Given the description of an element on the screen output the (x, y) to click on. 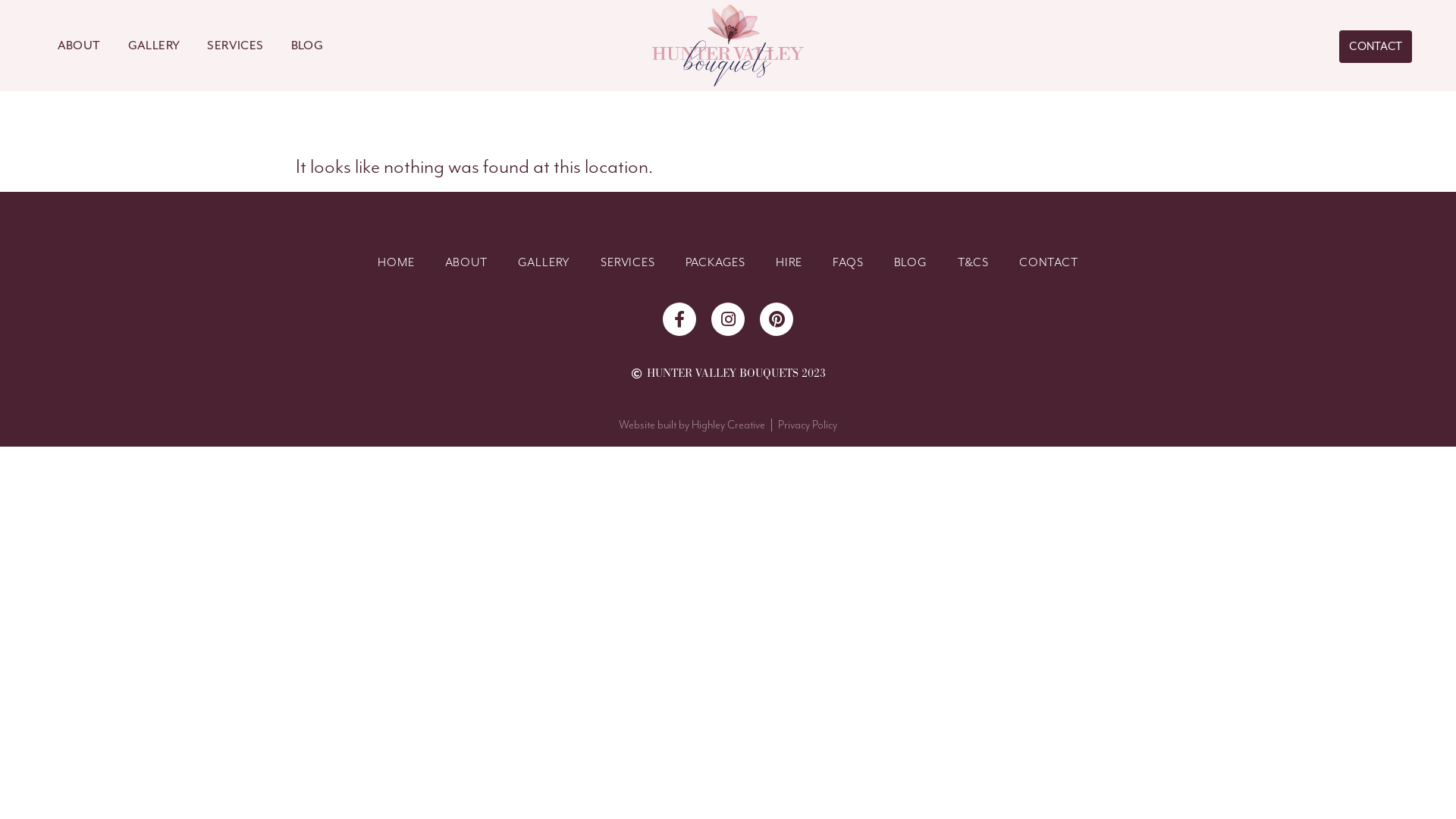
CONTACT Element type: text (1375, 46)
SERVICES Element type: text (627, 261)
GALLERY Element type: text (154, 45)
PACKAGES Element type: text (715, 261)
BLOG Element type: text (909, 261)
T&CS Element type: text (973, 261)
GALLERY Element type: text (544, 261)
ABOUT Element type: text (465, 261)
CONTACT Element type: text (1048, 261)
HIRE Element type: text (788, 261)
Website built by Highley Creative Element type: text (691, 424)
HOME Element type: text (395, 261)
Privacy Policy Element type: text (807, 424)
SERVICES Element type: text (234, 45)
BLOG Element type: text (307, 45)
ABOUT Element type: text (78, 45)
FAQS Element type: text (847, 261)
